Given the description of an element on the screen output the (x, y) to click on. 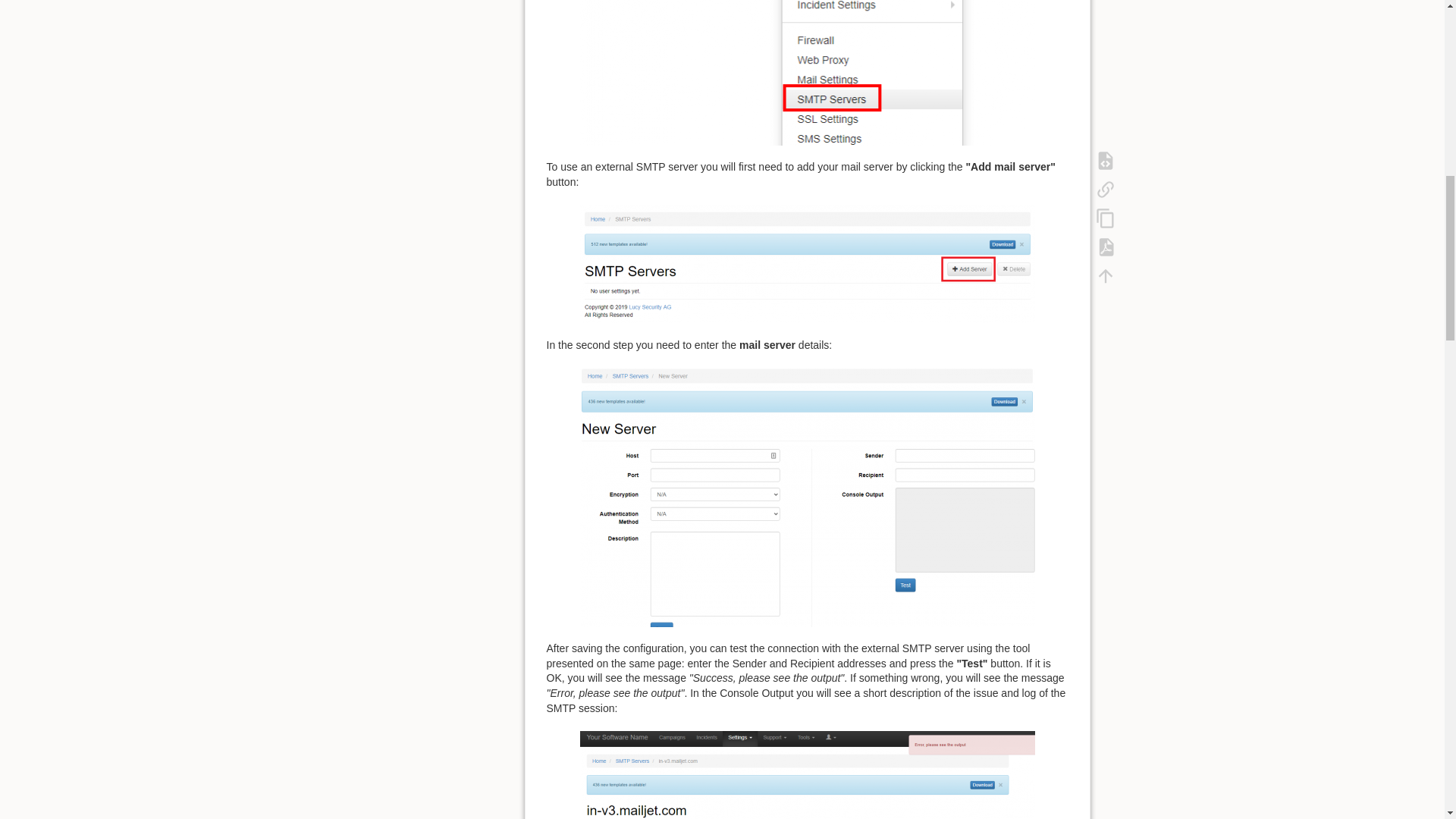
addmailserver.png (806, 263)
mailrelaysettings.png (806, 72)
